Given the description of an element on the screen output the (x, y) to click on. 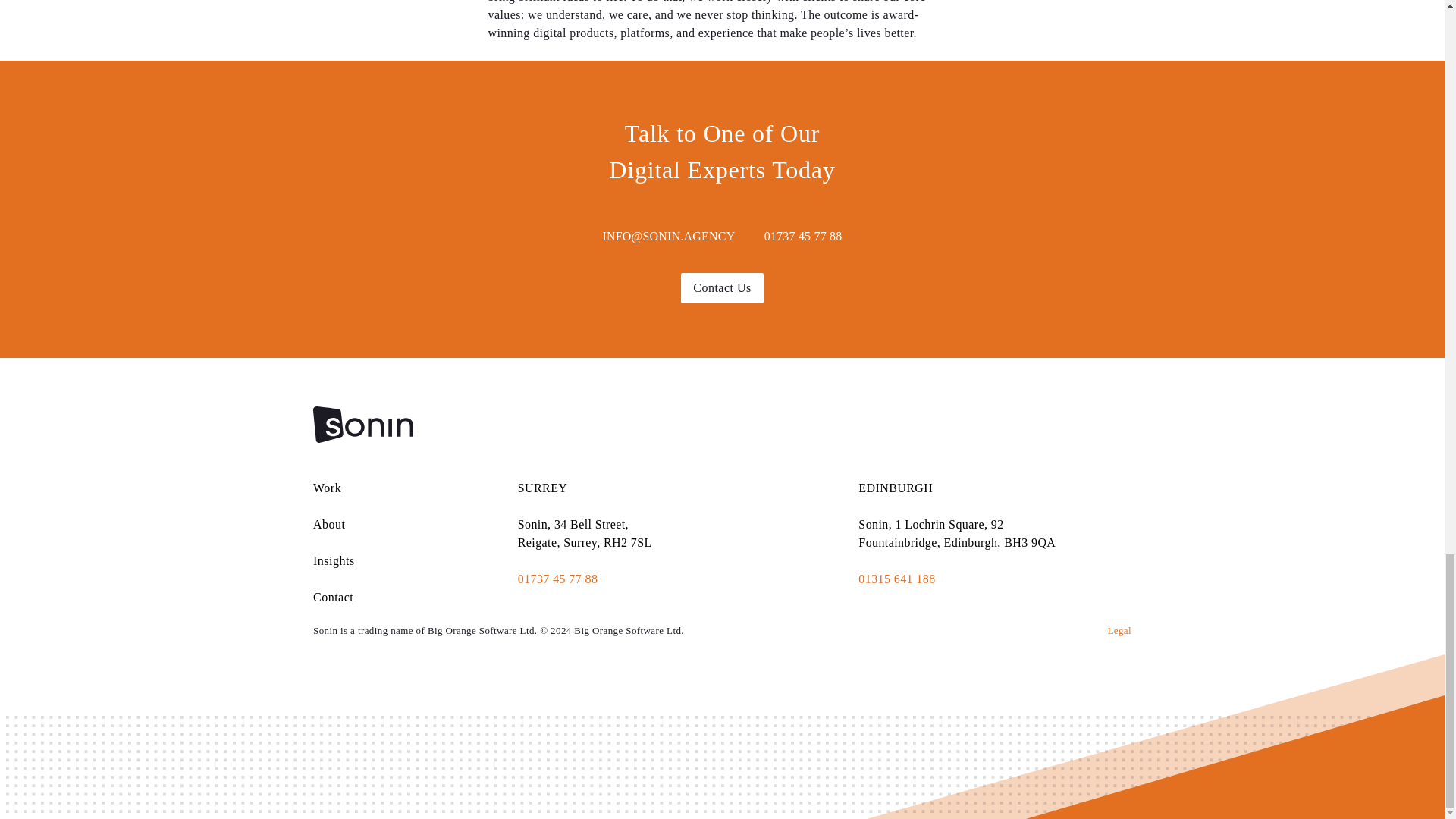
01737 45 77 88 (803, 236)
